Given the description of an element on the screen output the (x, y) to click on. 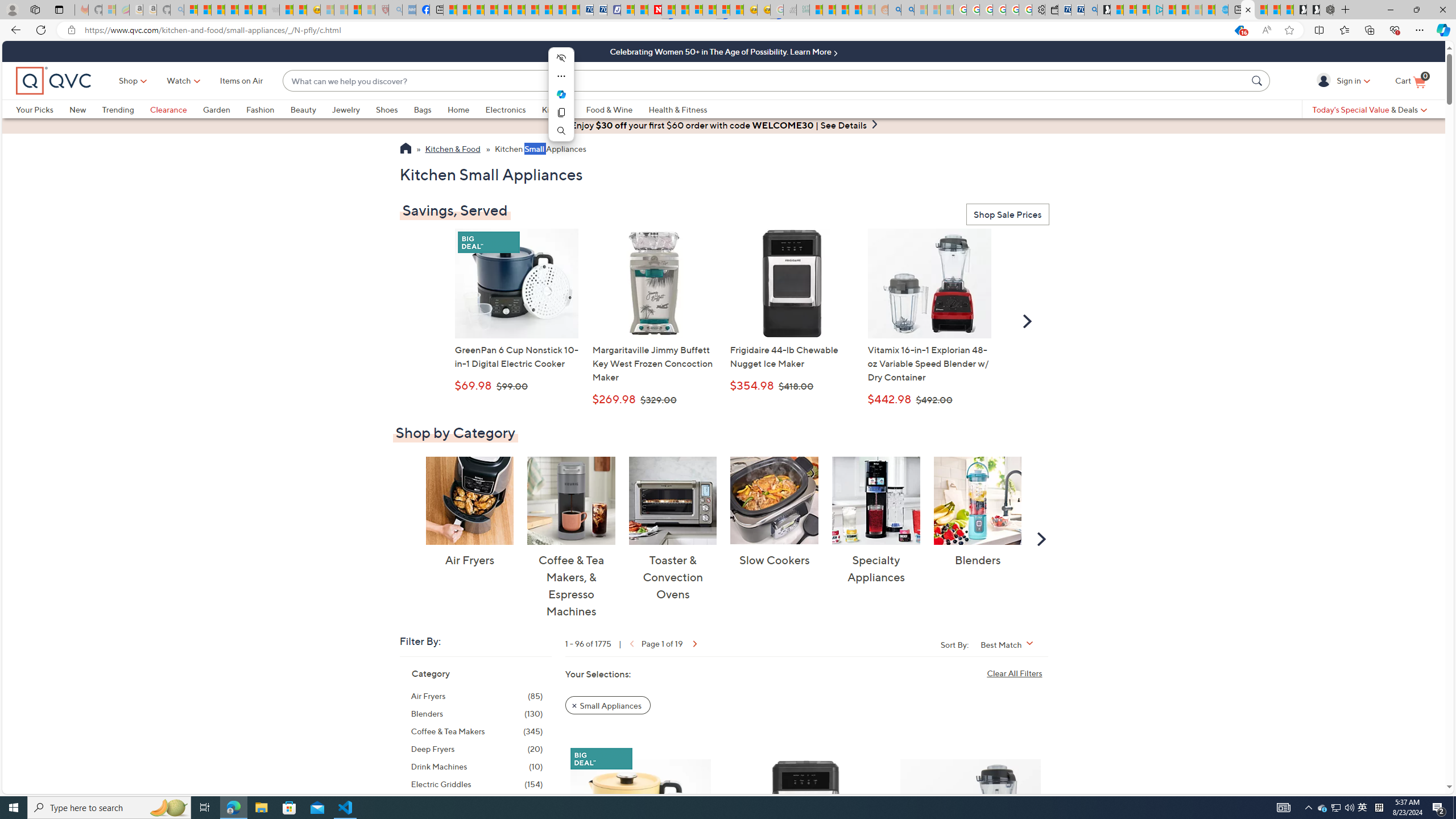
Garden (216, 109)
Wallet (1050, 9)
Fashion (268, 109)
Your Picks (42, 109)
Toaster & Convection Ovens (672, 500)
Fashion (260, 109)
Coffee & Tea Makers, 345 items (476, 730)
Cheap Car Rentals - Save70.com (1077, 9)
Combat Siege - Sleeping (271, 9)
